Given the description of an element on the screen output the (x, y) to click on. 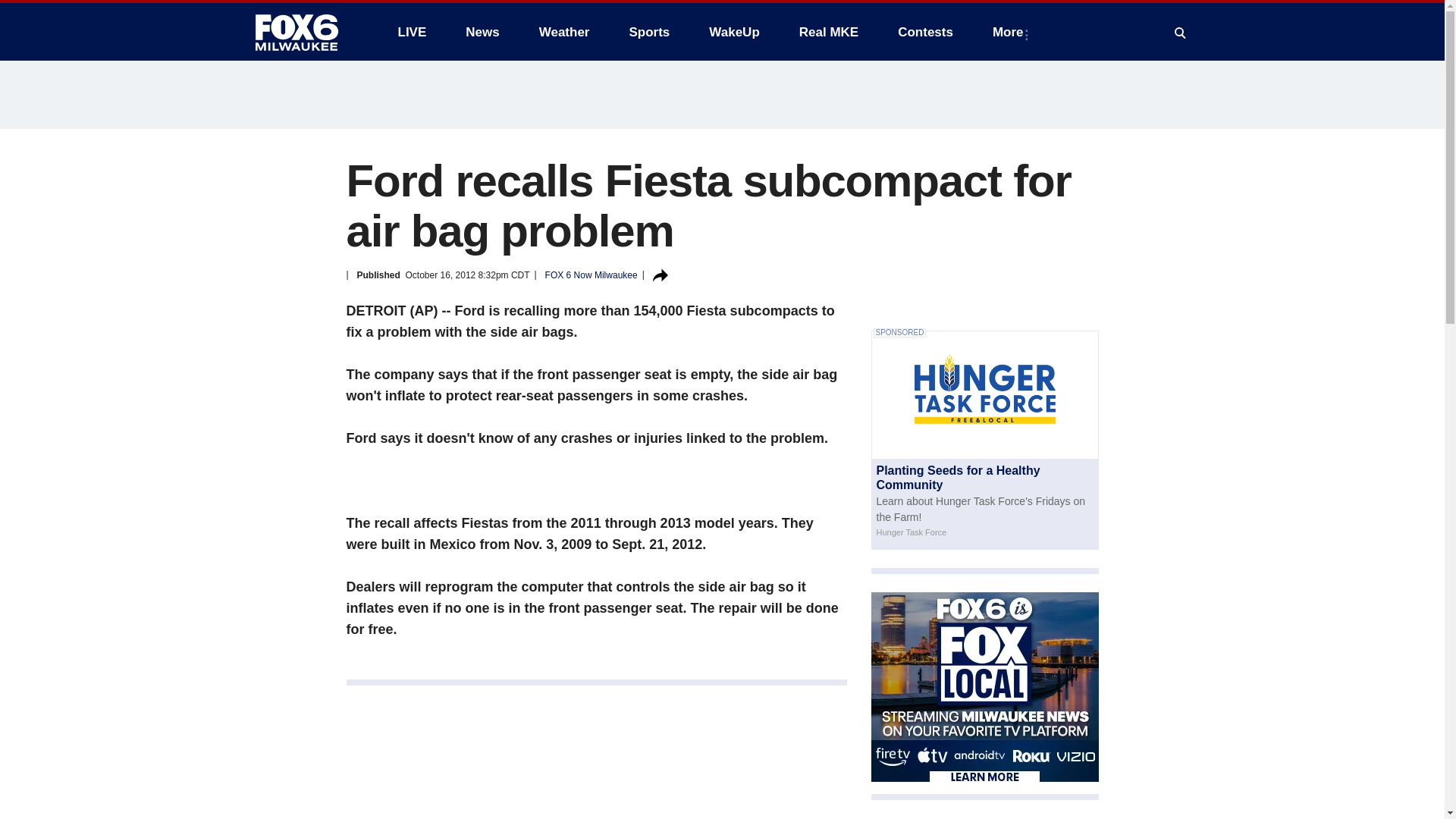
Sports (648, 32)
Weather (564, 32)
News (481, 32)
WakeUp (734, 32)
More (1010, 32)
LIVE (411, 32)
Real MKE (828, 32)
Contests (925, 32)
